Given the description of an element on the screen output the (x, y) to click on. 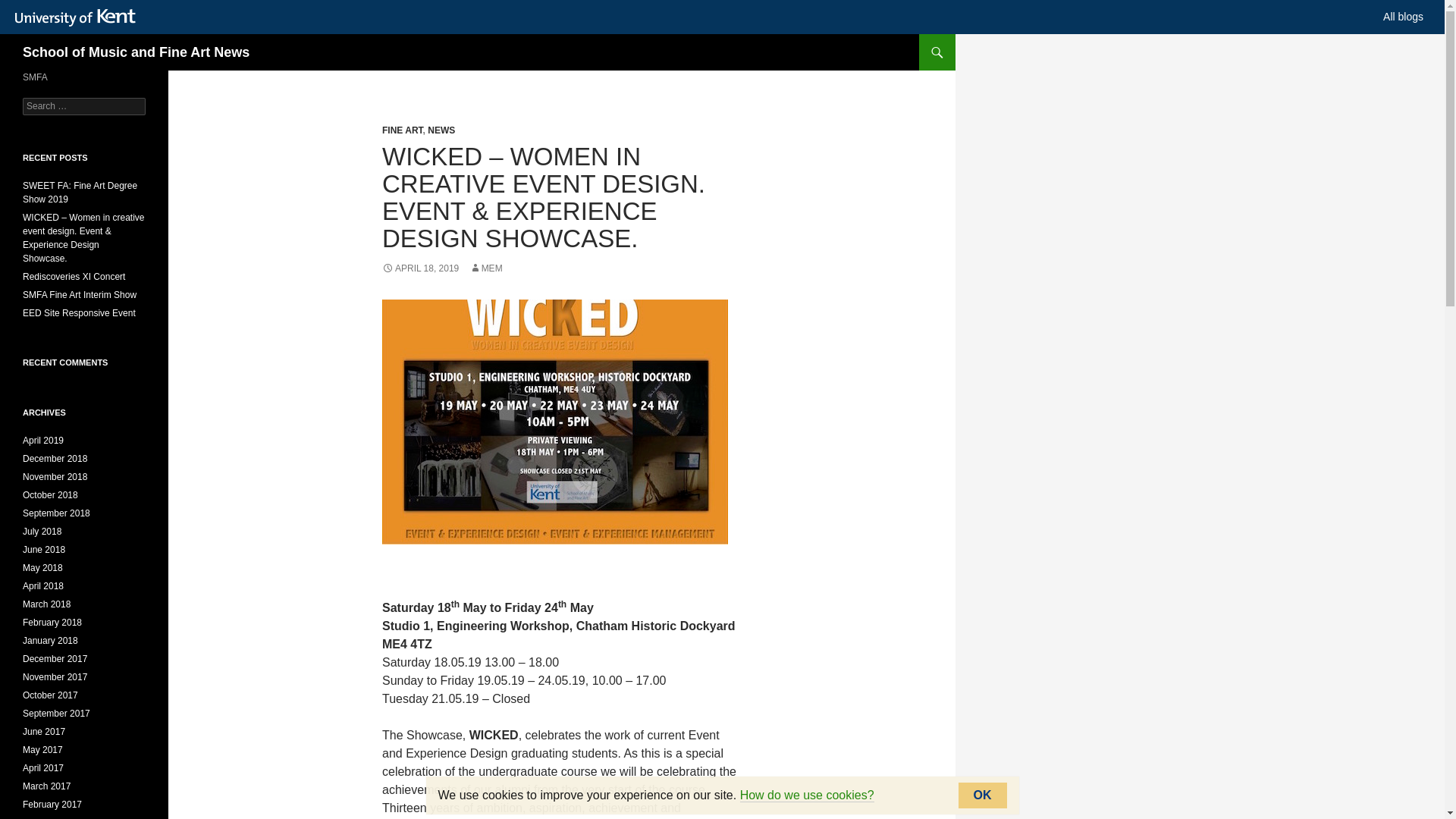
April 2018 (43, 585)
How do we use cookies? (807, 795)
SWEET FA: Fine Art Degree Show 2019 (79, 192)
NEWS (441, 130)
October 2018 (50, 494)
December 2017 (55, 658)
Rediscoveries XI Concert (74, 276)
SMFA Fine Art Interim Show (79, 294)
Search (30, 8)
